Given the description of an element on the screen output the (x, y) to click on. 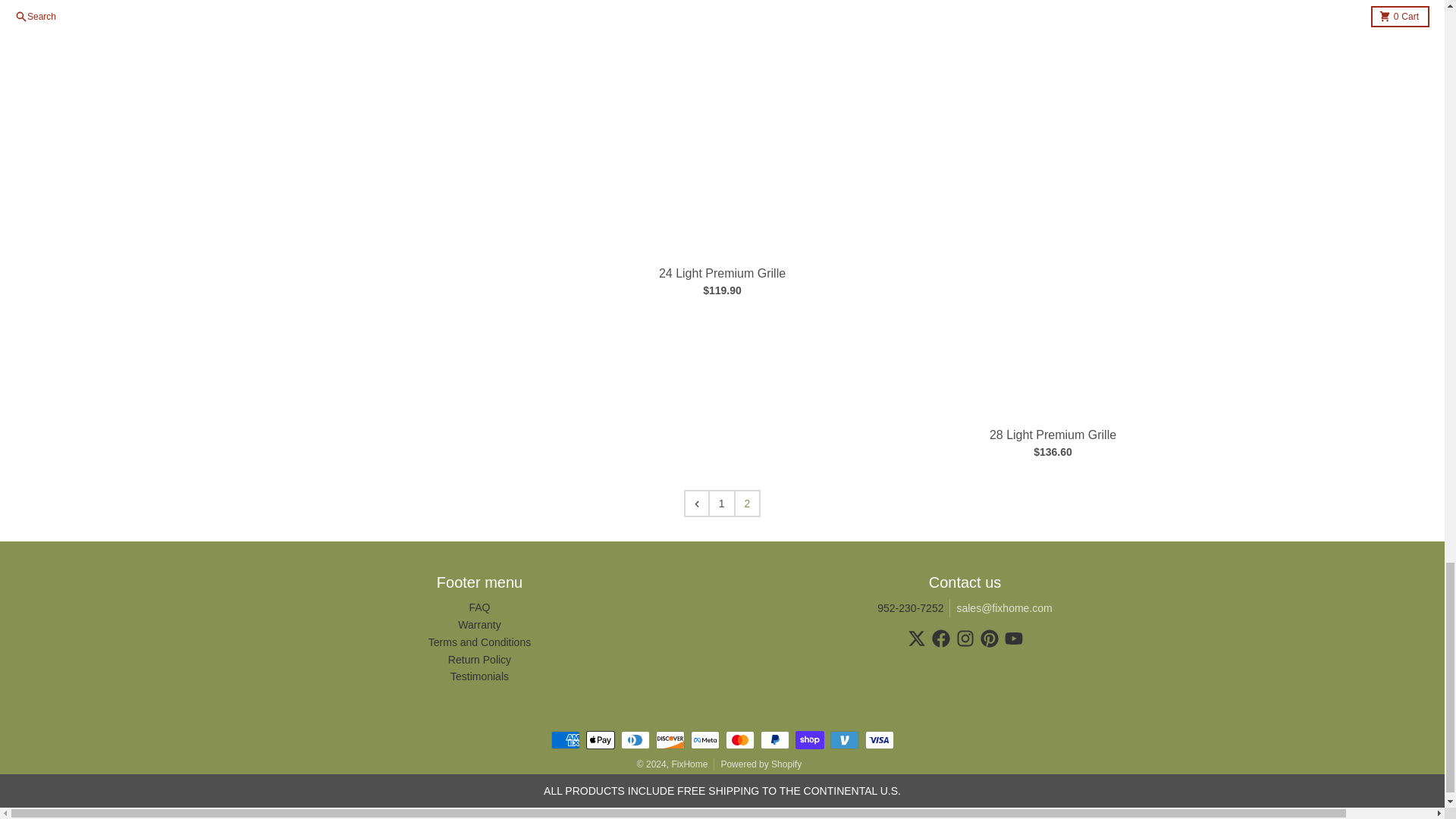
Twitter - FixHome (915, 638)
Facebook - FixHome (940, 638)
Instagram - FixHome (964, 638)
Pinterest - FixHome (988, 638)
YouTube - FixHome (1013, 638)
